Given the description of an element on the screen output the (x, y) to click on. 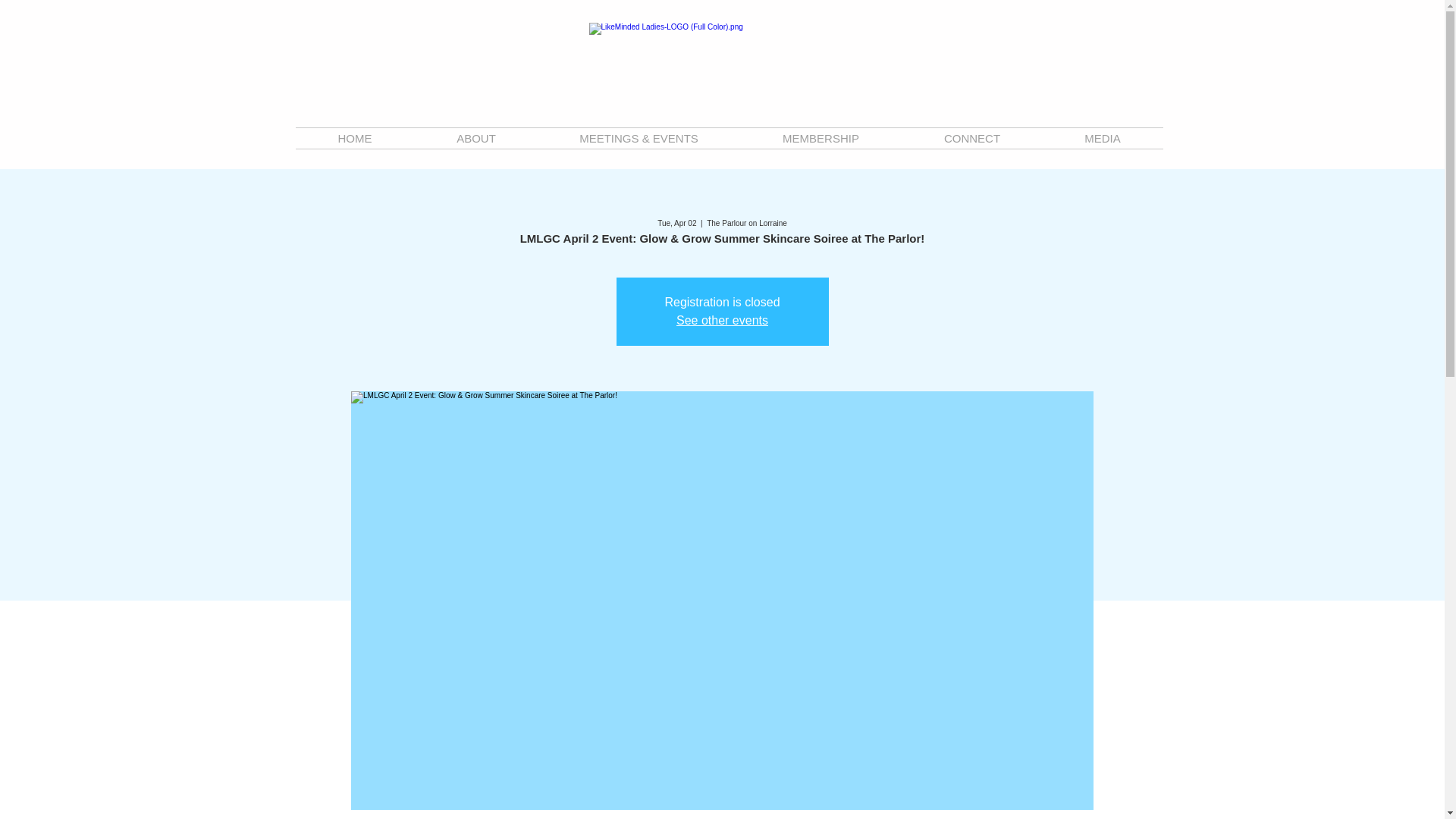
MEMBERSHIP (820, 137)
CONNECT (972, 137)
HOME (354, 137)
See other events (722, 319)
